Given the description of an element on the screen output the (x, y) to click on. 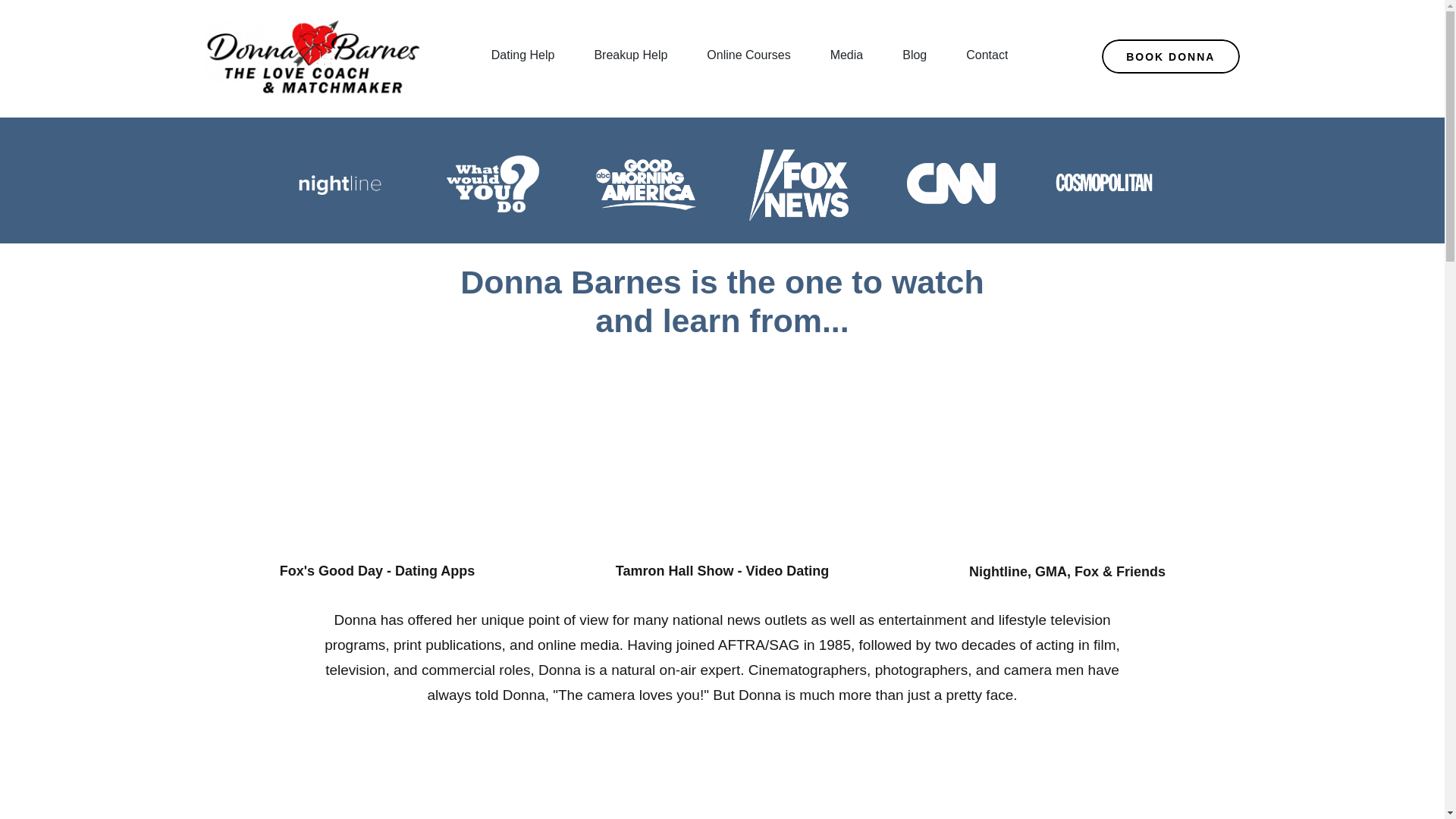
Donna Barnes The Love Coach Matchmaker Dark (312, 56)
Dating Help (523, 56)
Media (847, 56)
Breakup Help (629, 56)
Online Courses (748, 56)
Cosmopolitan logo (1104, 182)
GMA Logo (645, 183)
Nightline logo (339, 184)
BOOK DONNA (1171, 56)
Contact (986, 56)
